Given the description of an element on the screen output the (x, y) to click on. 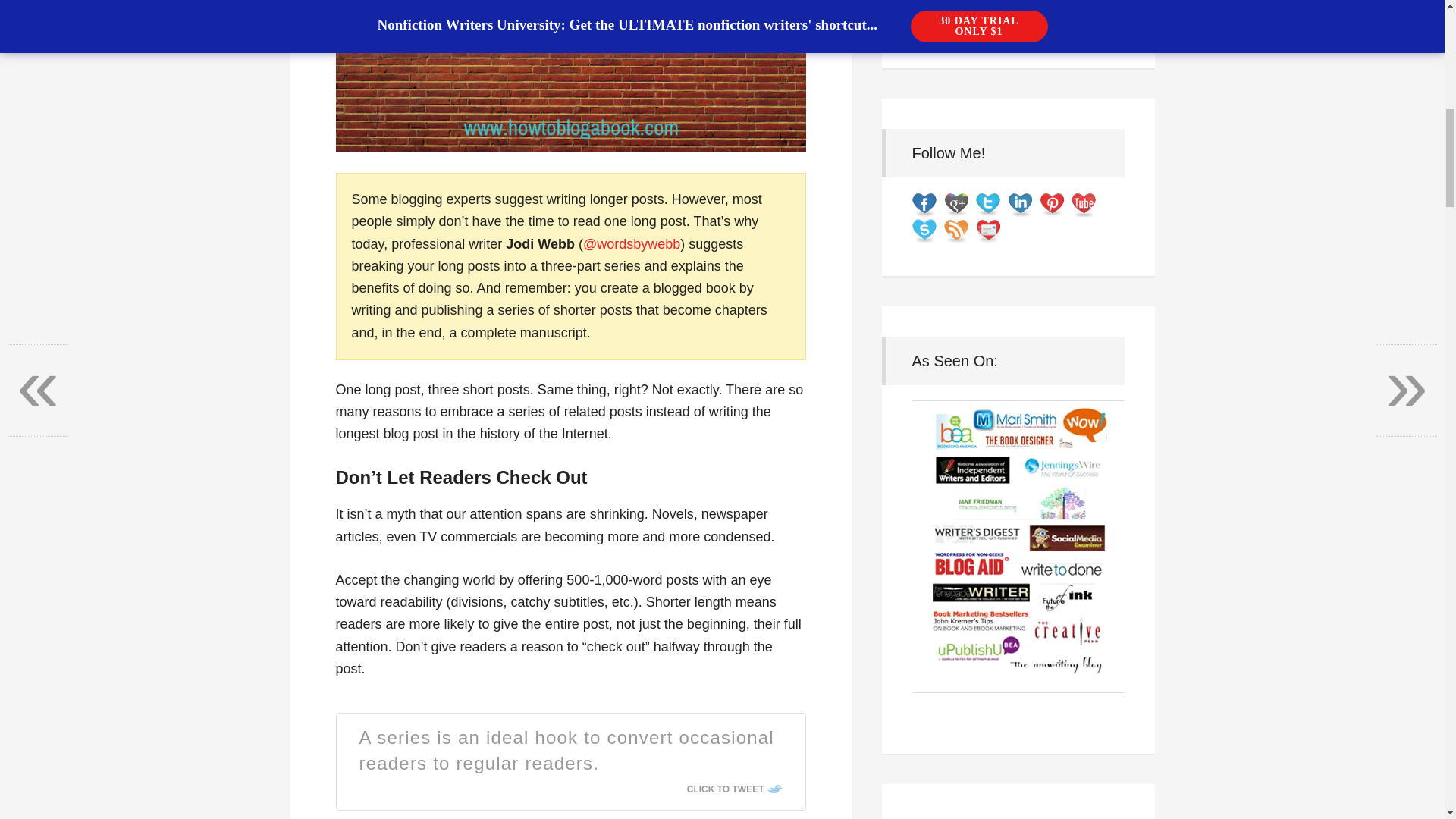
wordsbywebb (637, 243)
